Given the description of an element on the screen output the (x, y) to click on. 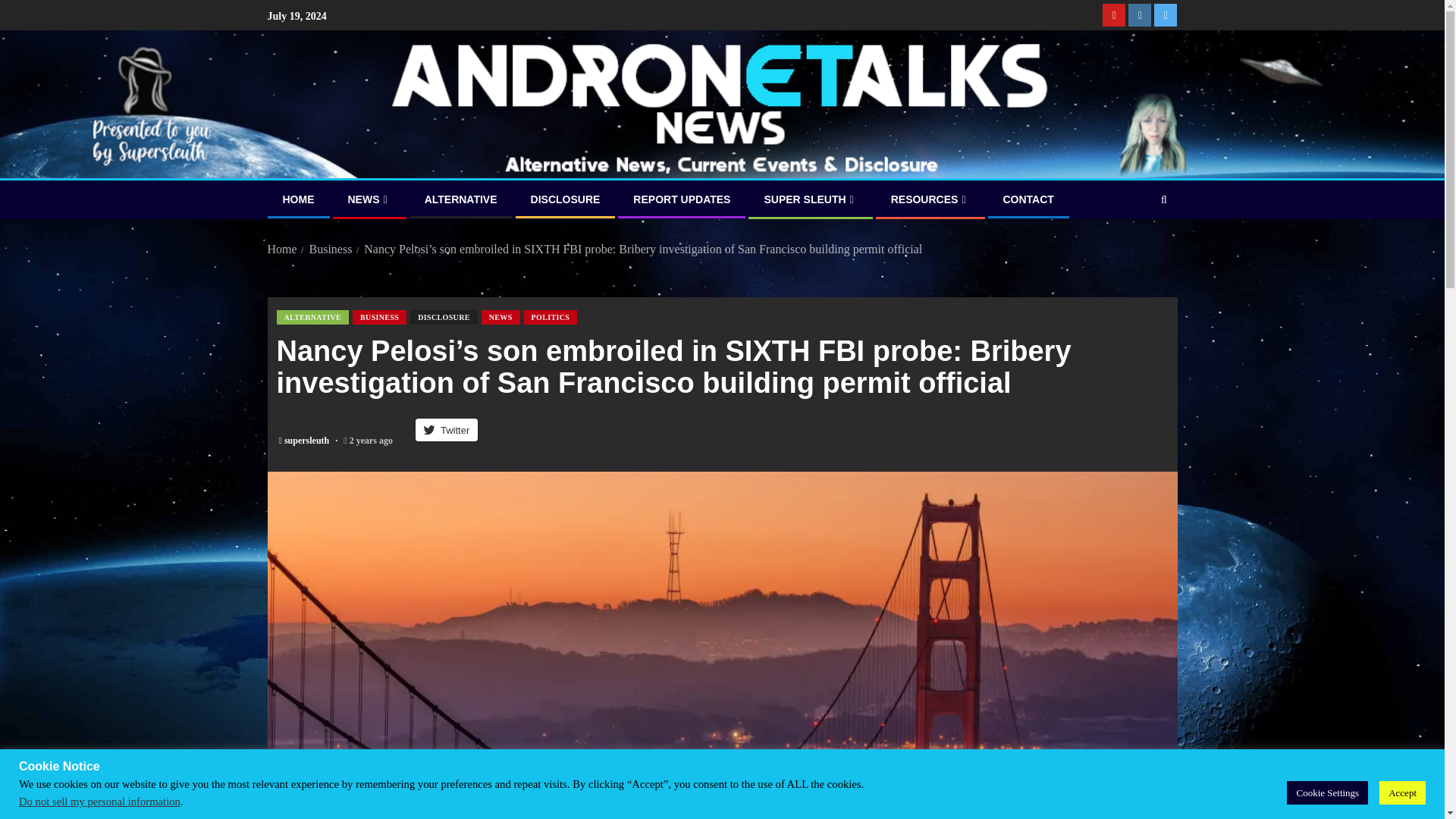
NEWS (368, 199)
Click to share on Twitter (445, 429)
HOME (298, 199)
